Given the description of an element on the screen output the (x, y) to click on. 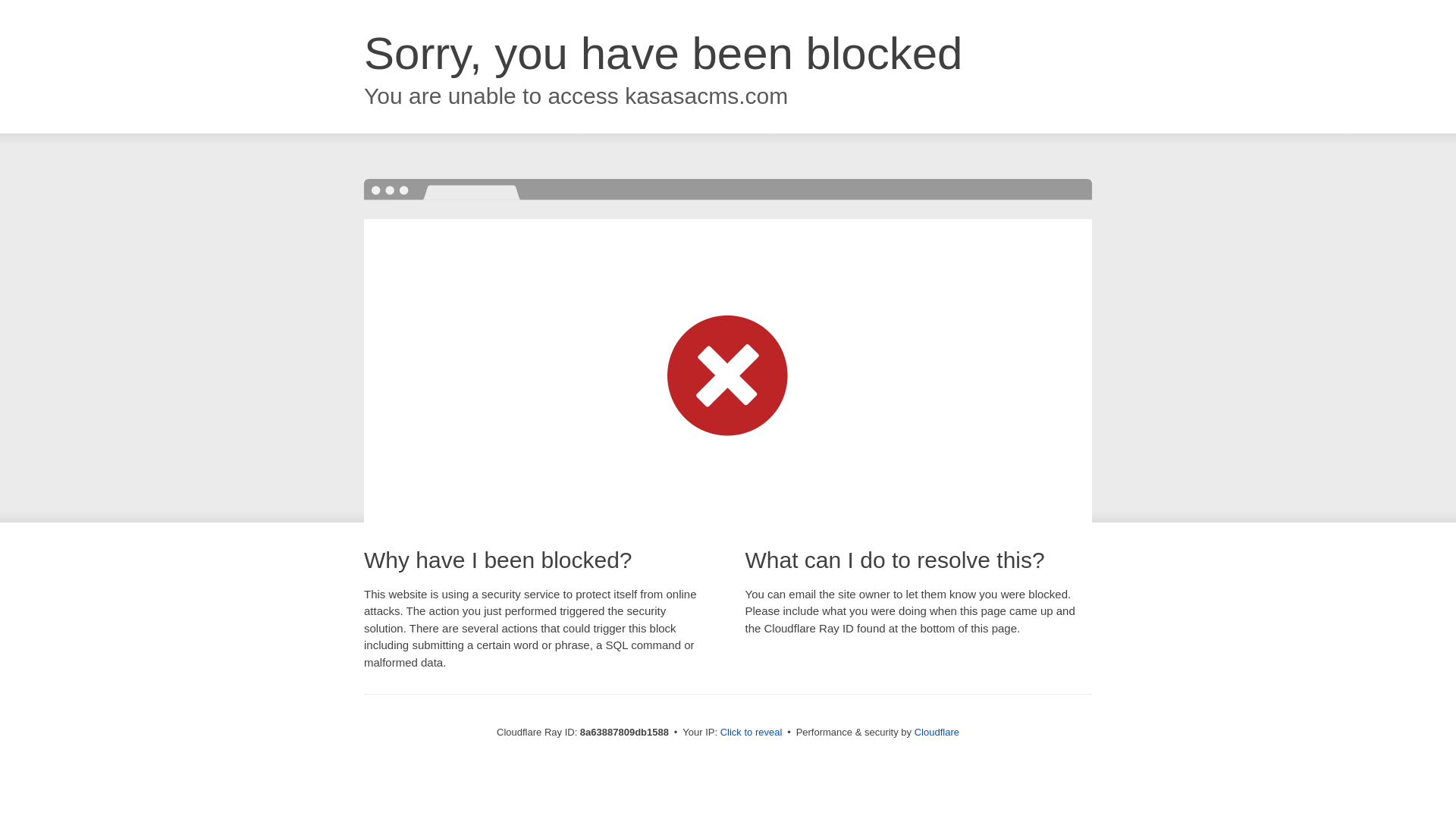
Click to reveal (751, 732)
Cloudflare (936, 731)
